Given the description of an element on the screen output the (x, y) to click on. 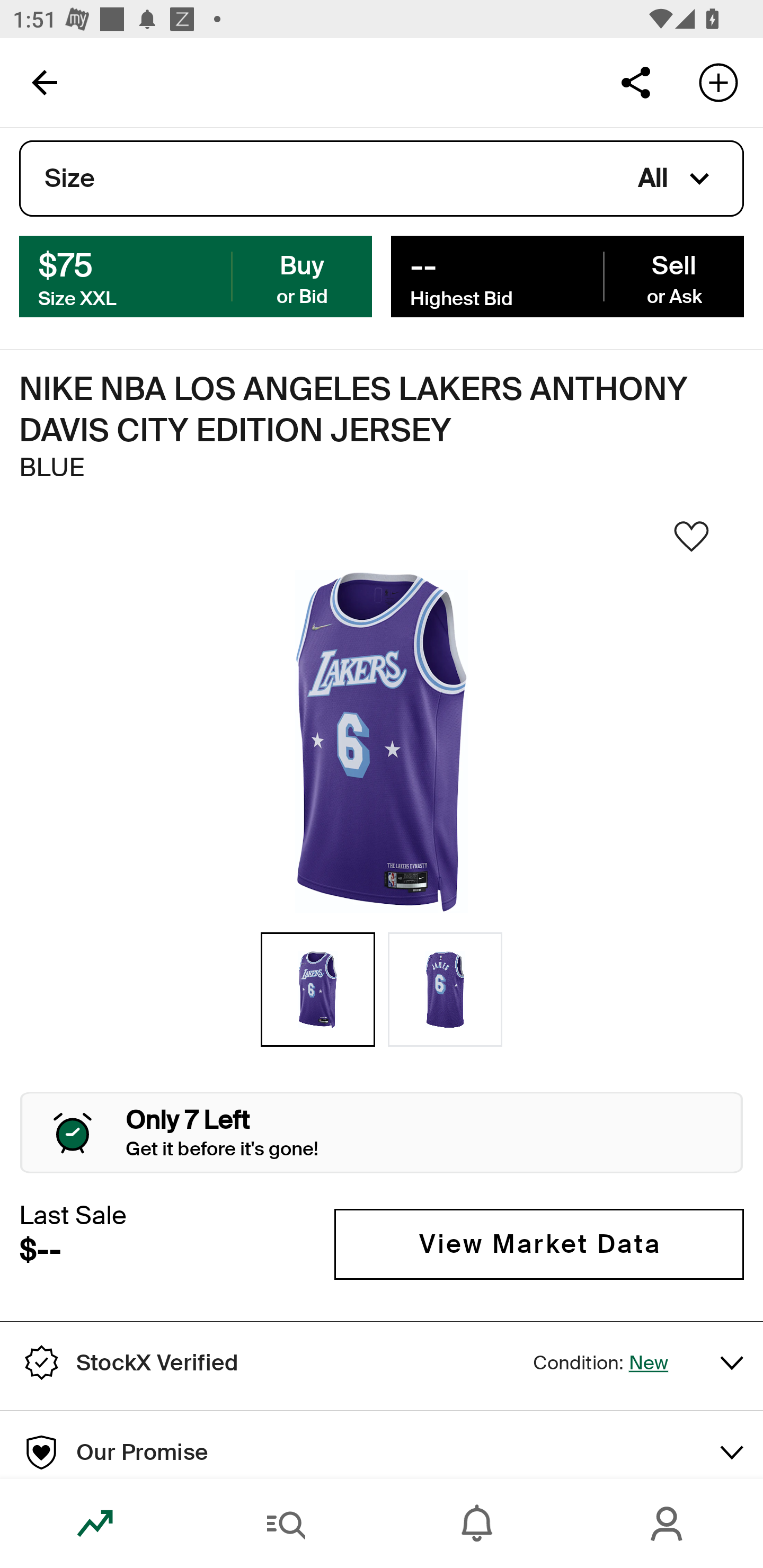
Share (635, 81)
Add (718, 81)
Size All (381, 178)
$104 Buy Size S or Bid (195, 275)
$178 Sell Size XS or Ask (566, 275)
Sneaker Image (381, 741)
View Market Data (538, 1243)
Search (285, 1523)
Inbox (476, 1523)
Account (667, 1523)
